Given the description of an element on the screen output the (x, y) to click on. 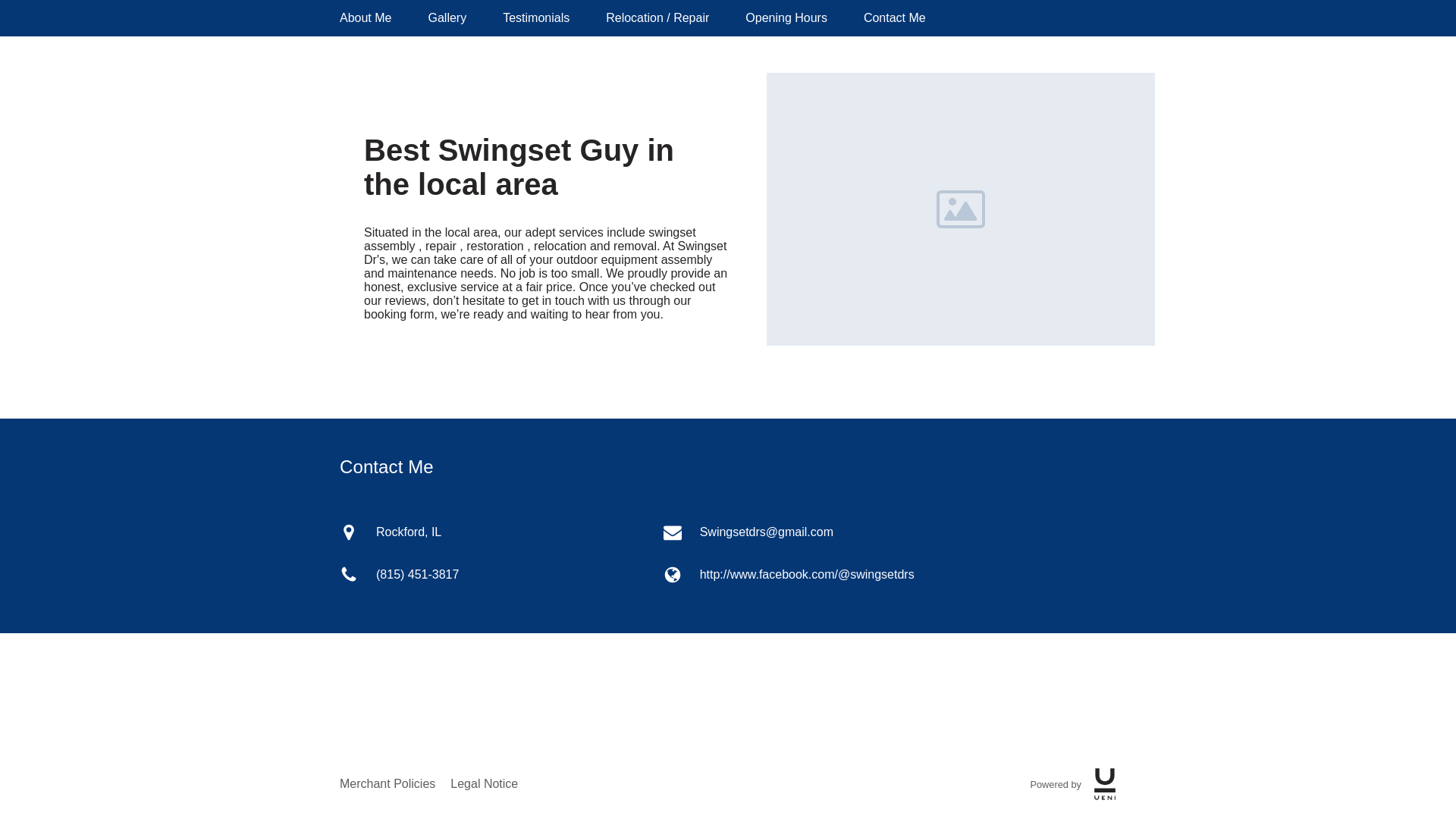
Merchant Policies (387, 783)
Rockford, IL (498, 531)
Testimonials (535, 18)
Contact Me (894, 18)
Legal Notice (483, 783)
Gallery (446, 18)
Opening Hours (786, 18)
About Me (365, 18)
